Given the description of an element on the screen output the (x, y) to click on. 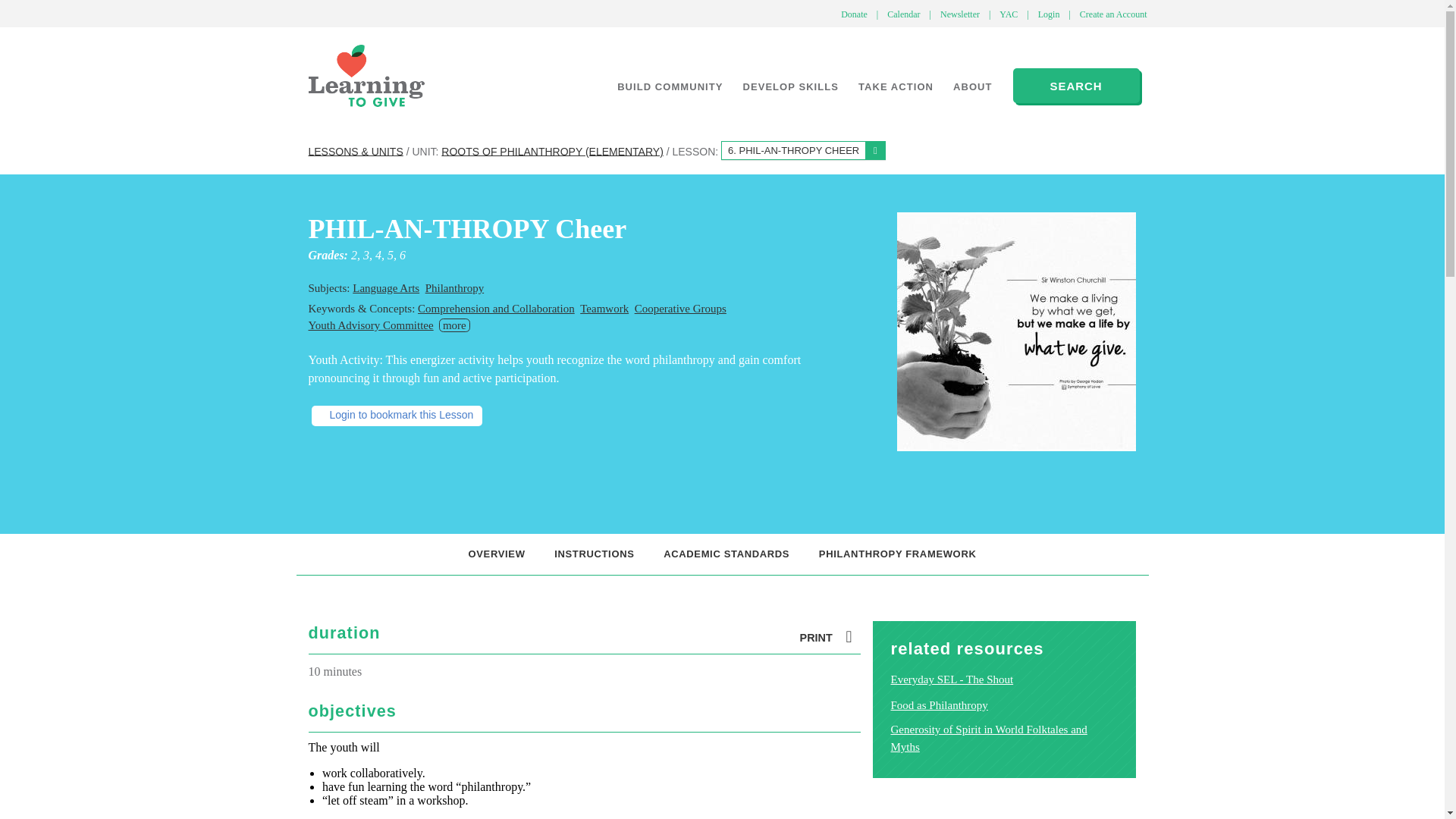
Youth Advisory Committee (369, 325)
Learn more about philanthropy and civics (790, 86)
Activities to identify interests and community needs (669, 86)
SEARCH (1076, 85)
Donate (853, 14)
Philanthropy (454, 287)
Teamwork (603, 307)
Newsletter (960, 14)
YAC (1008, 14)
BUILD COMMUNITY (669, 86)
Language Arts (385, 287)
Calendar (903, 14)
Comprehension and Collaboration (496, 307)
Click on "About" to learn more about Learning to Give (973, 86)
Create an Account (1113, 14)
